Given the description of an element on the screen output the (x, y) to click on. 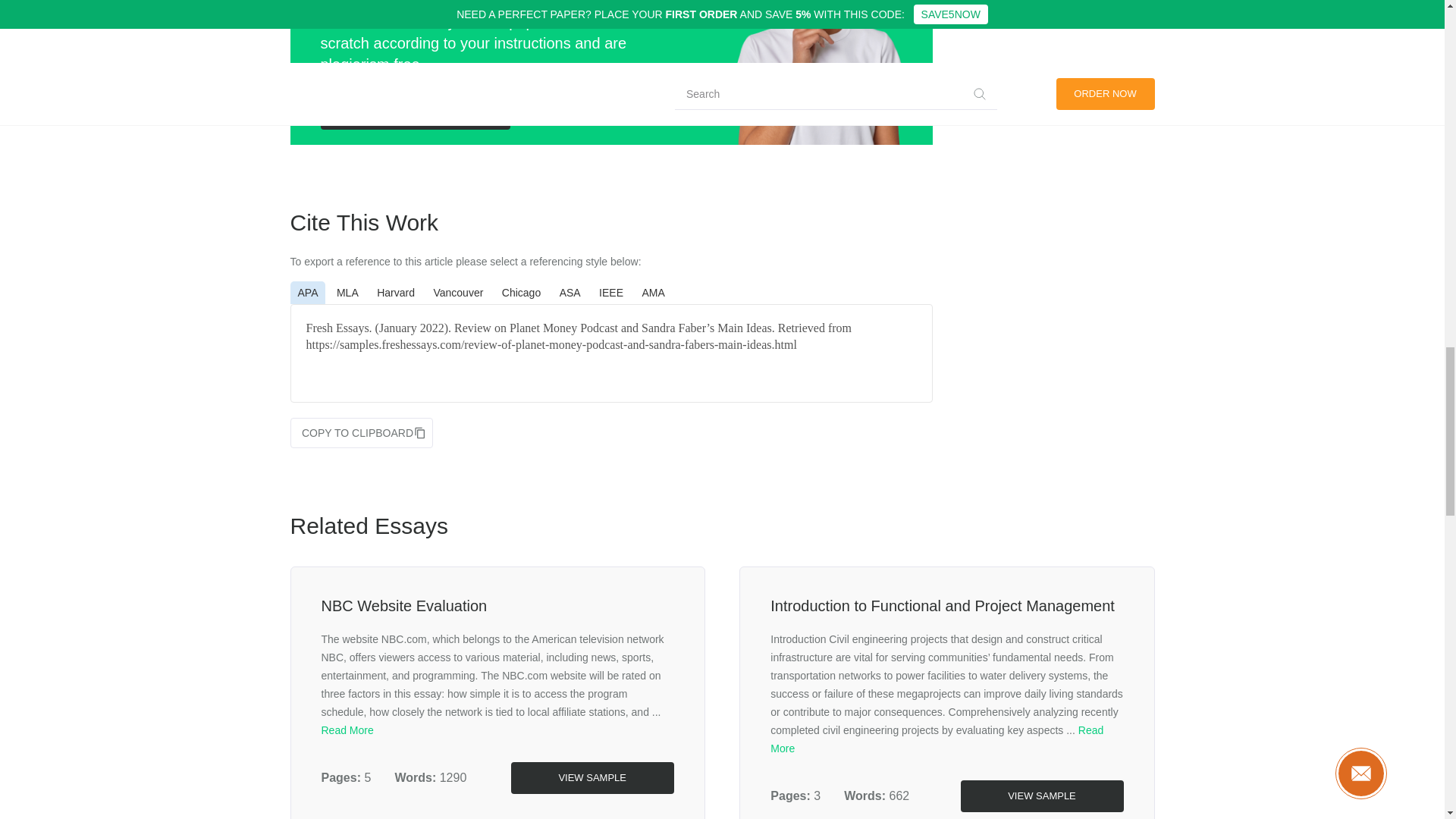
NBC Website Evaluation (404, 605)
Read More (347, 729)
Introduction to Functional and Project Management (942, 605)
VIEW SAMPLE (1040, 796)
PLACE AN ORDER (414, 113)
VIEW SAMPLE (592, 777)
Read More (936, 738)
